Given the description of an element on the screen output the (x, y) to click on. 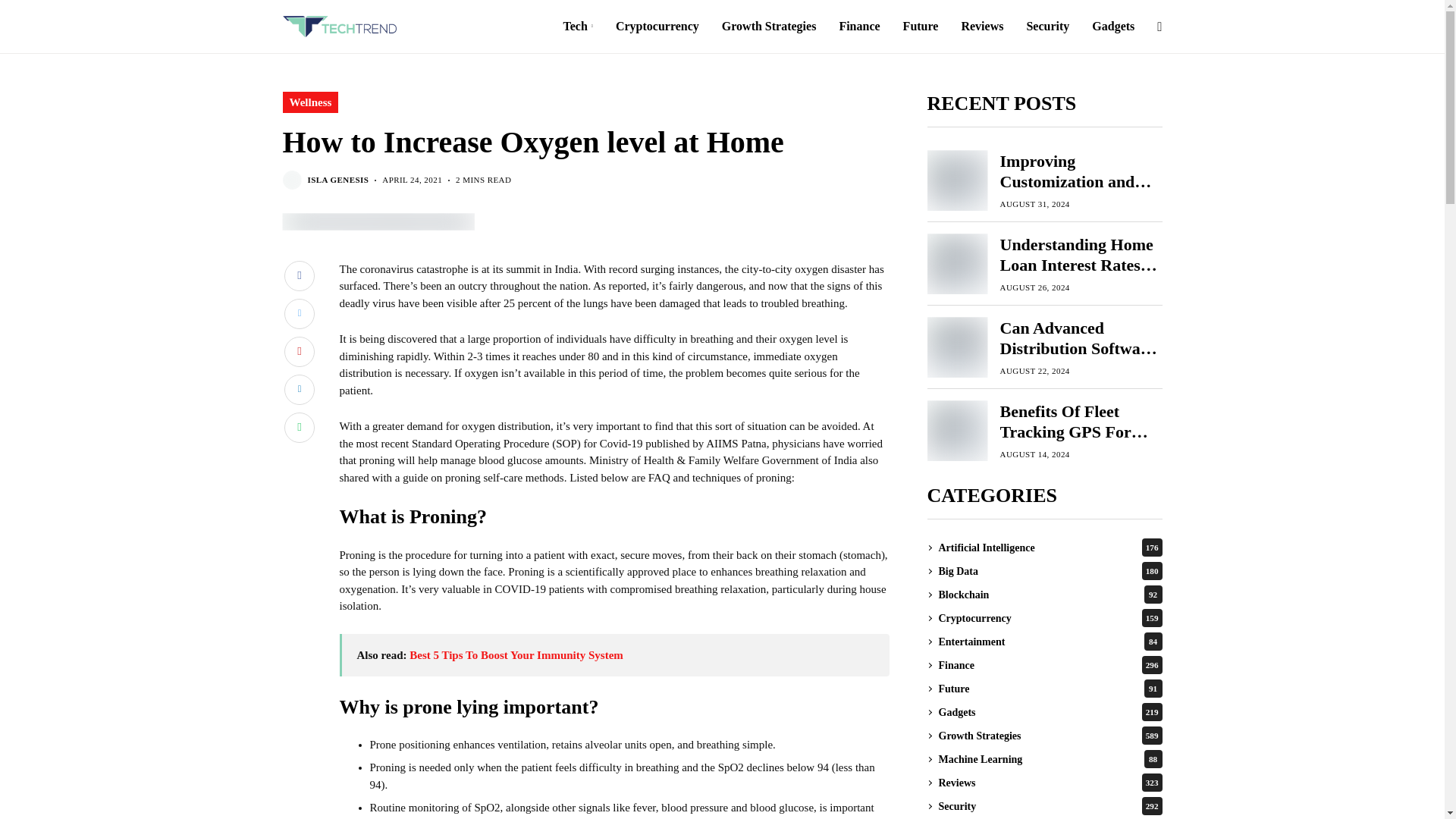
Cryptocurrency (656, 26)
Growth Strategies (769, 26)
Posts by Isla Genesis (338, 180)
